Given the description of an element on the screen output the (x, y) to click on. 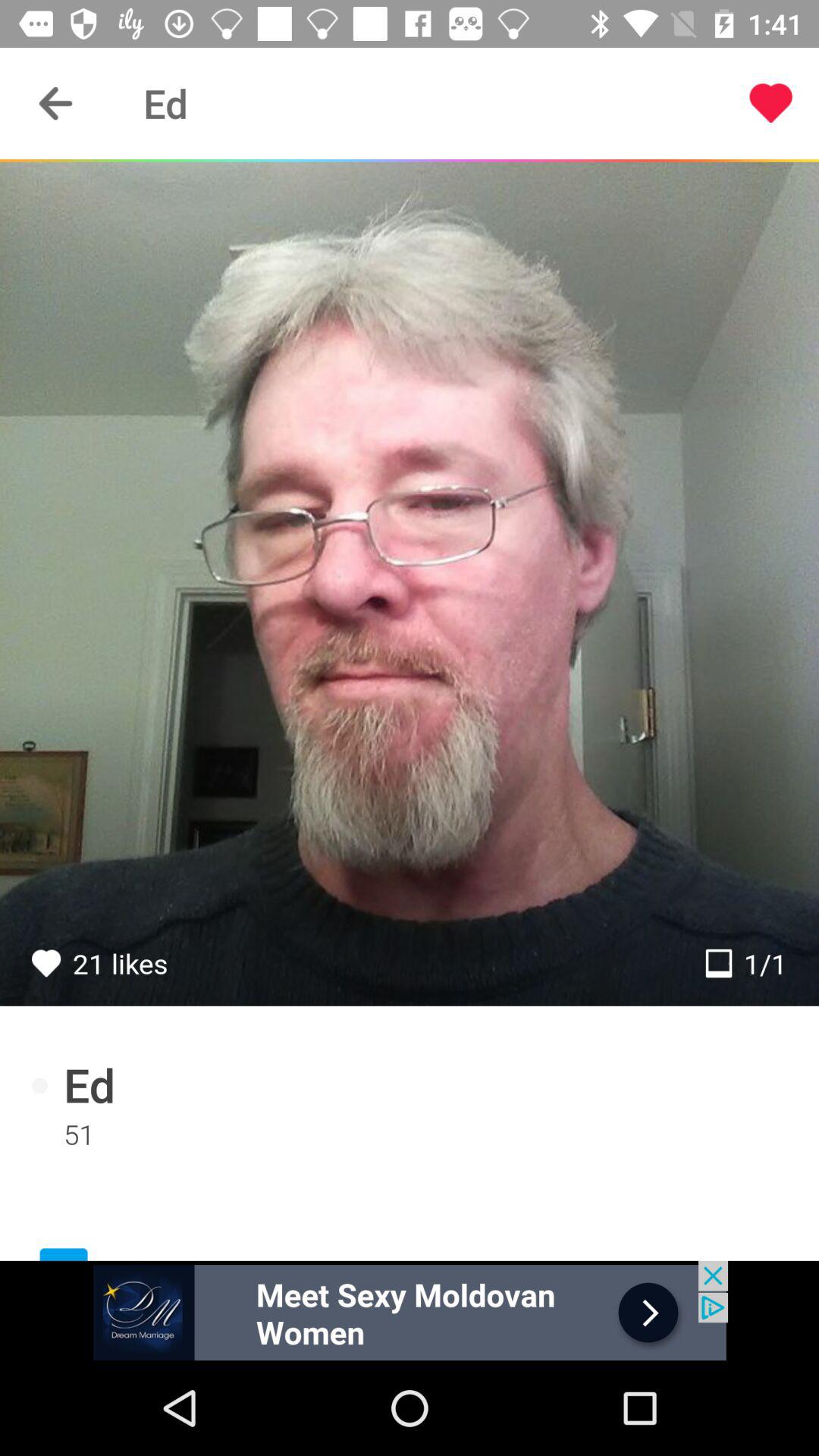
click advertisement (409, 1310)
